Given the description of an element on the screen output the (x, y) to click on. 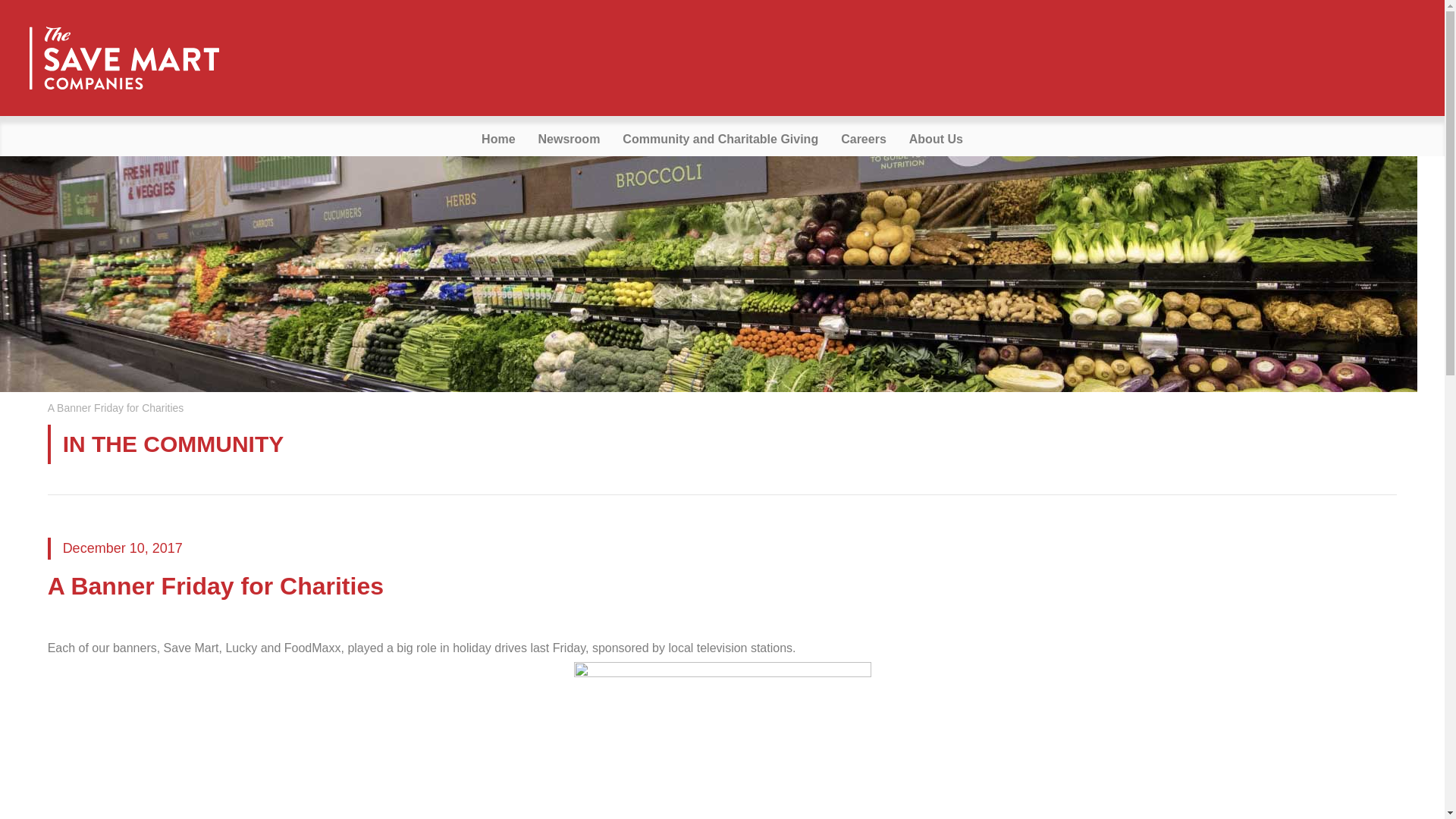
Community and Charitable Giving (720, 139)
Careers (863, 139)
Careers (863, 139)
Home (497, 139)
About Us (936, 139)
About Us (936, 139)
Community and Charitable Giving (720, 139)
Newsroom (569, 139)
Home (497, 139)
Newsroom (569, 139)
